Given the description of an element on the screen output the (x, y) to click on. 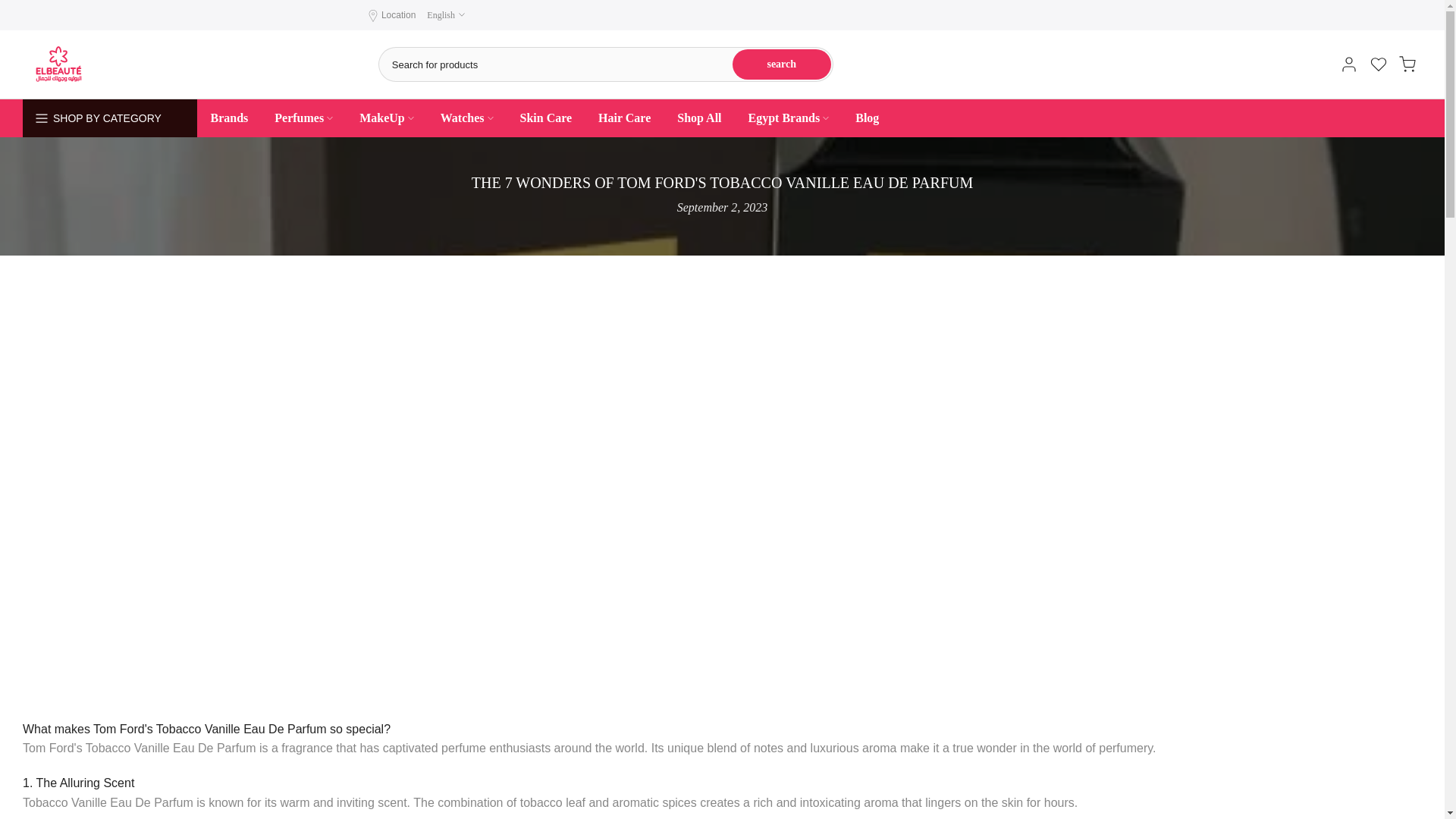
Skin Care (545, 117)
Watches (466, 117)
Shop All (699, 117)
Hair Care (624, 117)
MakeUp (387, 117)
English (445, 14)
Skip to content (10, 7)
Brands (229, 117)
Location (397, 14)
Blog (867, 117)
search (781, 64)
Perfumes (304, 117)
Egypt Brands (789, 117)
